Given the description of an element on the screen output the (x, y) to click on. 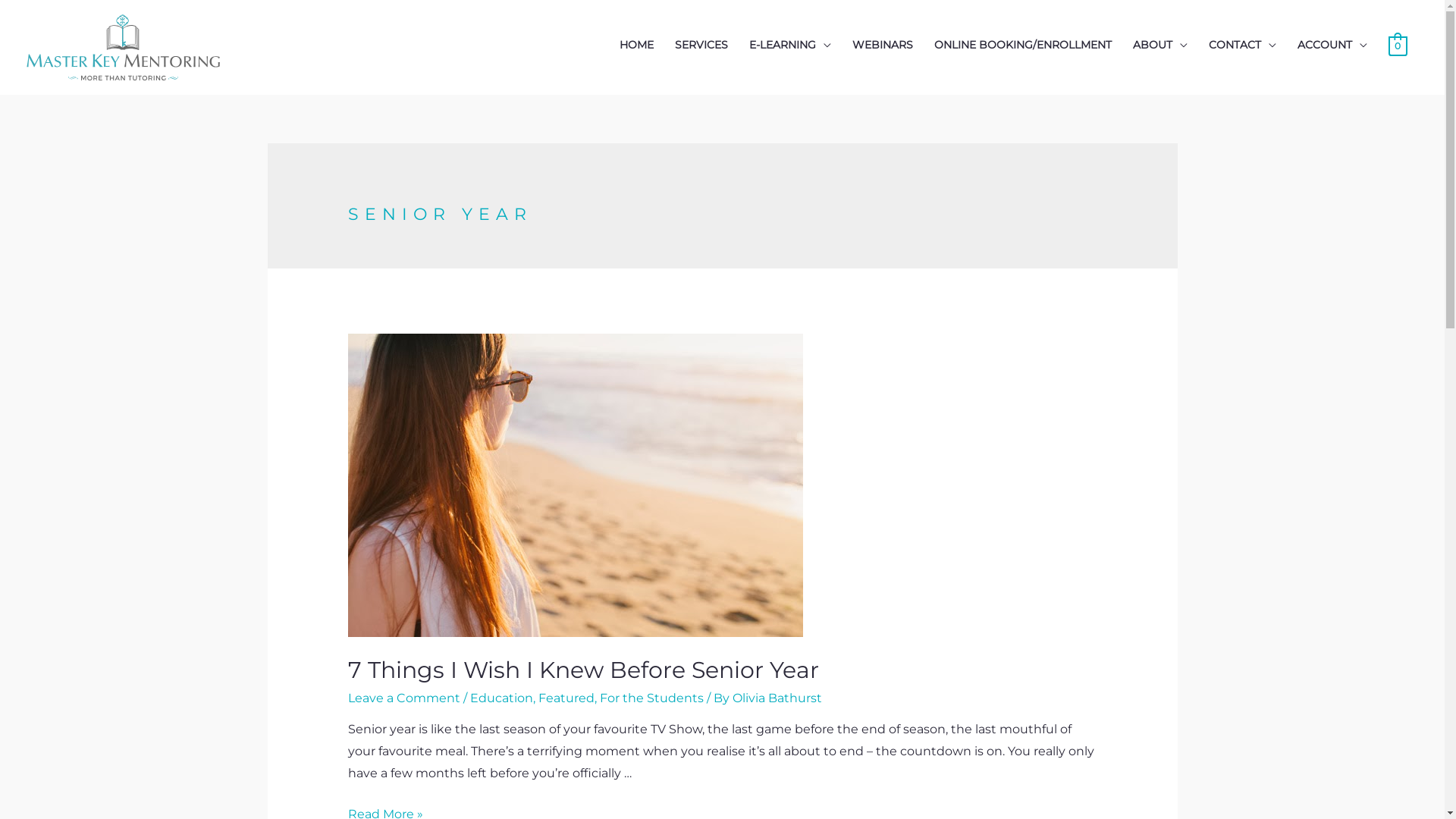
Leave a Comment Element type: text (404, 697)
E-LEARNING Element type: text (789, 44)
ONLINE BOOKING/ENROLLMENT Element type: text (1022, 44)
WEBINARS Element type: text (882, 44)
ACCOUNT Element type: text (1331, 44)
SERVICES Element type: text (701, 44)
HOME Element type: text (636, 44)
For the Students Element type: text (651, 697)
Education Element type: text (501, 697)
CONTACT Element type: text (1242, 44)
Olivia Bathurst Element type: text (777, 697)
7 Things I Wish I Knew Before Senior Year Element type: text (583, 669)
Featured Element type: text (566, 697)
ABOUT Element type: text (1160, 44)
0 Element type: text (1397, 45)
